Given the description of an element on the screen output the (x, y) to click on. 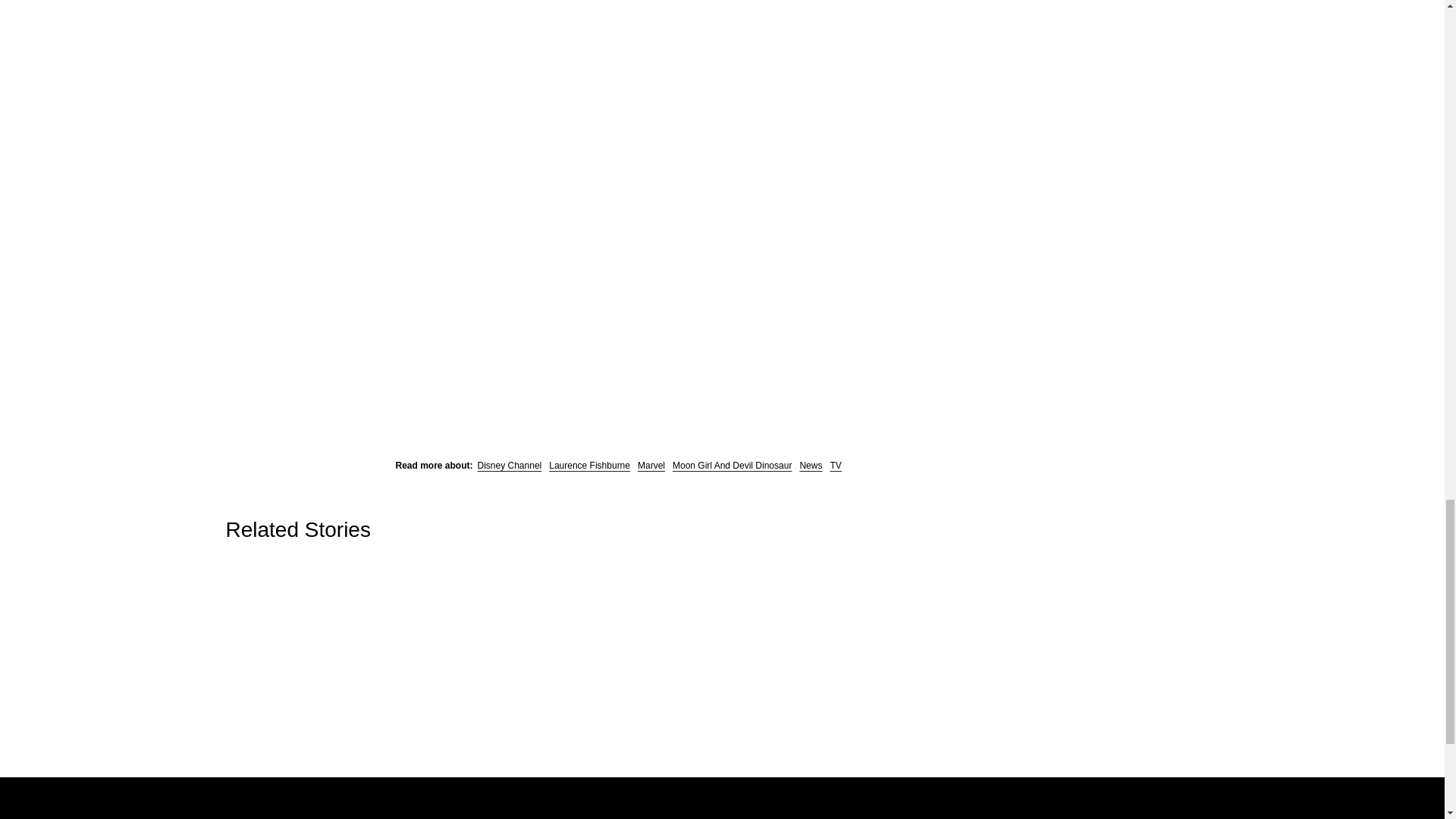
Marvel (651, 465)
Disney Channel (509, 465)
TV (835, 465)
Moon Girl And Devil Dinosaur (732, 465)
News (810, 465)
Laurence Fishburne (589, 465)
